Given the description of an element on the screen output the (x, y) to click on. 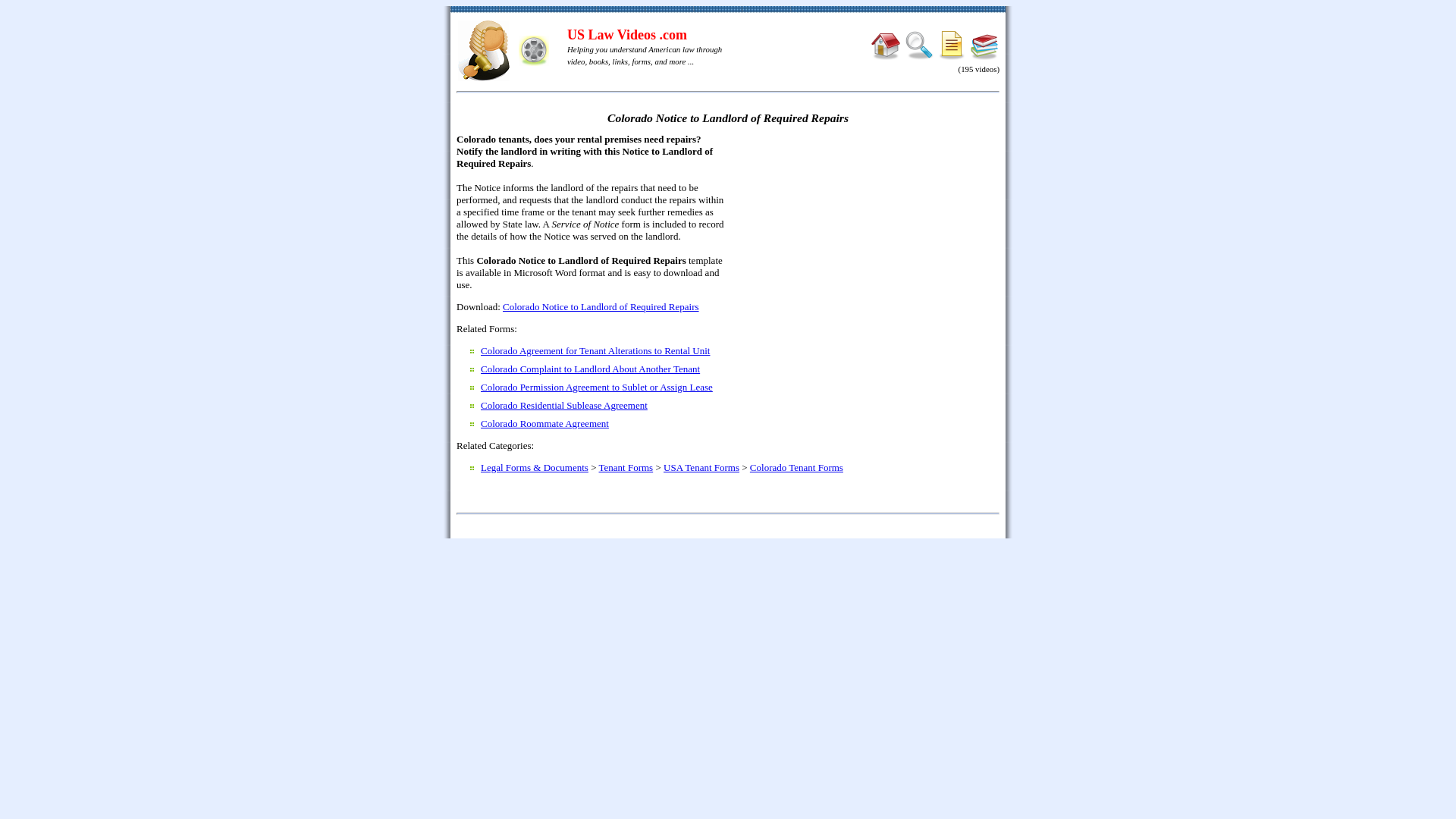
Colorado Agreement for Tenant Alterations to Rental Unit (595, 350)
Colorado Roommate Agreement (544, 423)
Colorado Notice to Landlord of Required Repairs (600, 306)
Colorado Permission Agreement to Sublet or Assign Lease (596, 387)
USA Tenant Forms (701, 467)
Advertisement (868, 242)
Colorado Complaint to Landlord About Another Tenant (590, 368)
US Law Videos .com (627, 34)
Colorado Residential Sublease Agreement (563, 405)
Tenant Forms (625, 467)
Colorado Tenant Forms (796, 467)
